Given the description of an element on the screen output the (x, y) to click on. 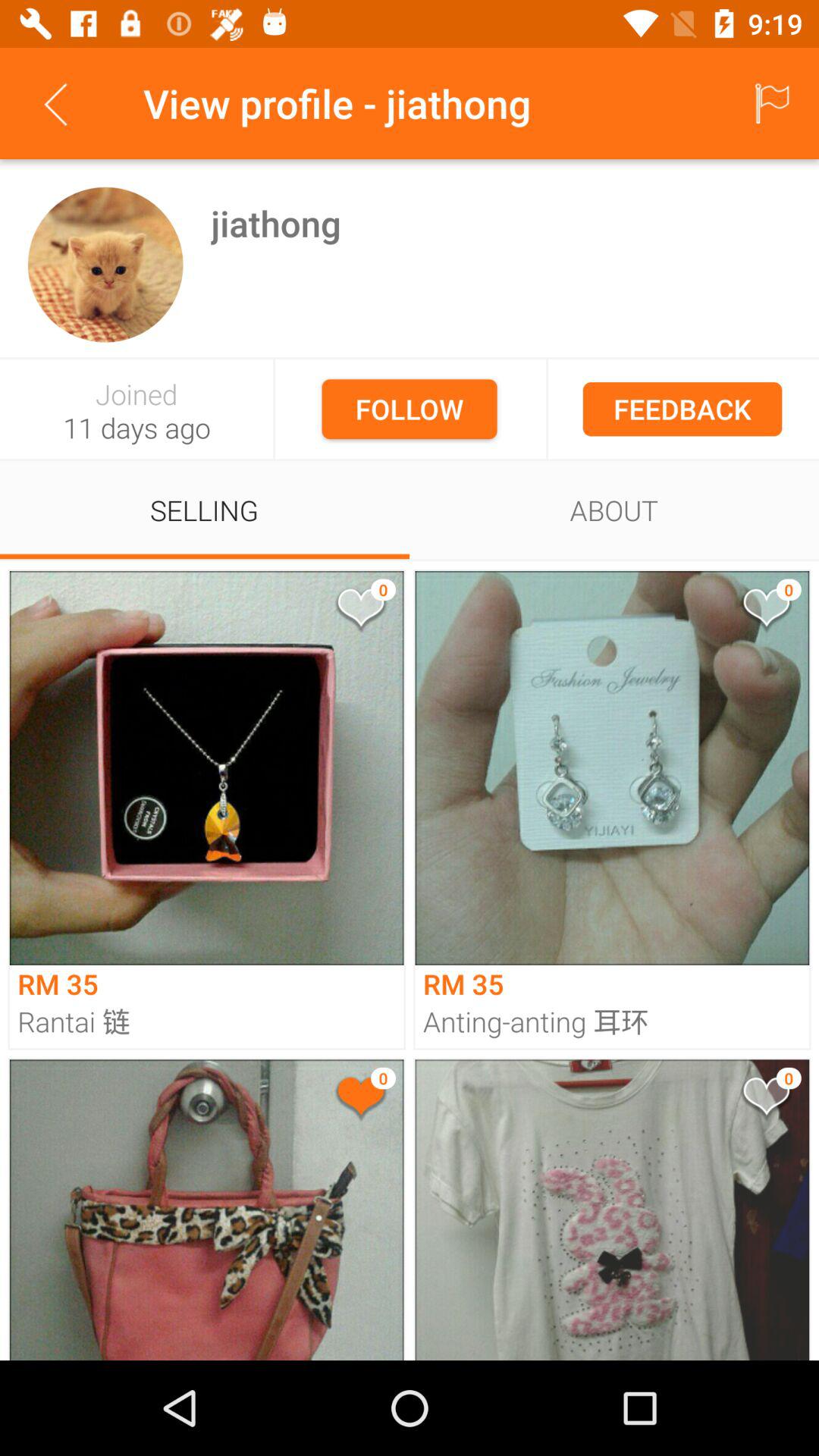
launch follow (409, 409)
